Given the description of an element on the screen output the (x, y) to click on. 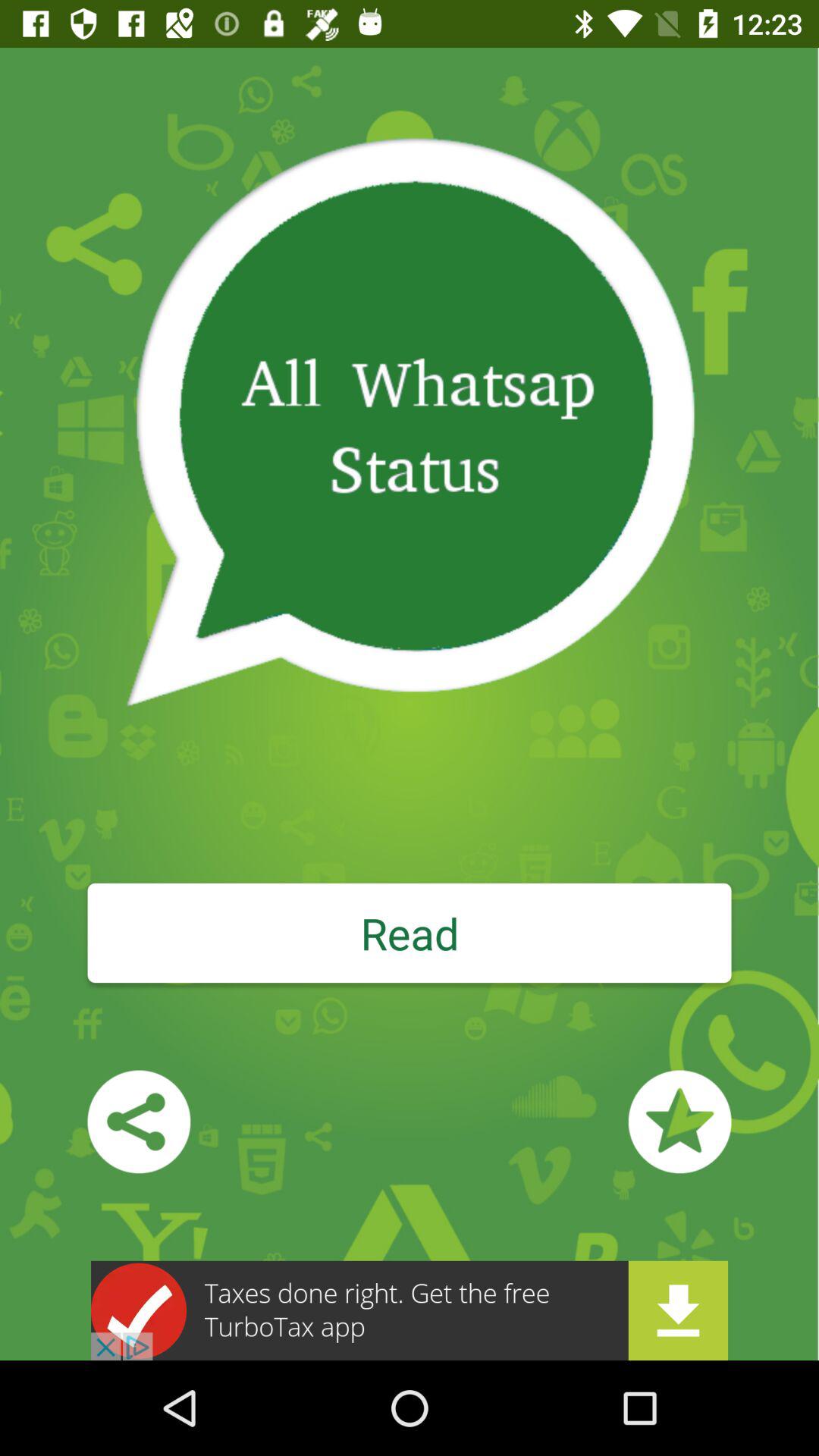
opens up advertisement (409, 1310)
